Given the description of an element on the screen output the (x, y) to click on. 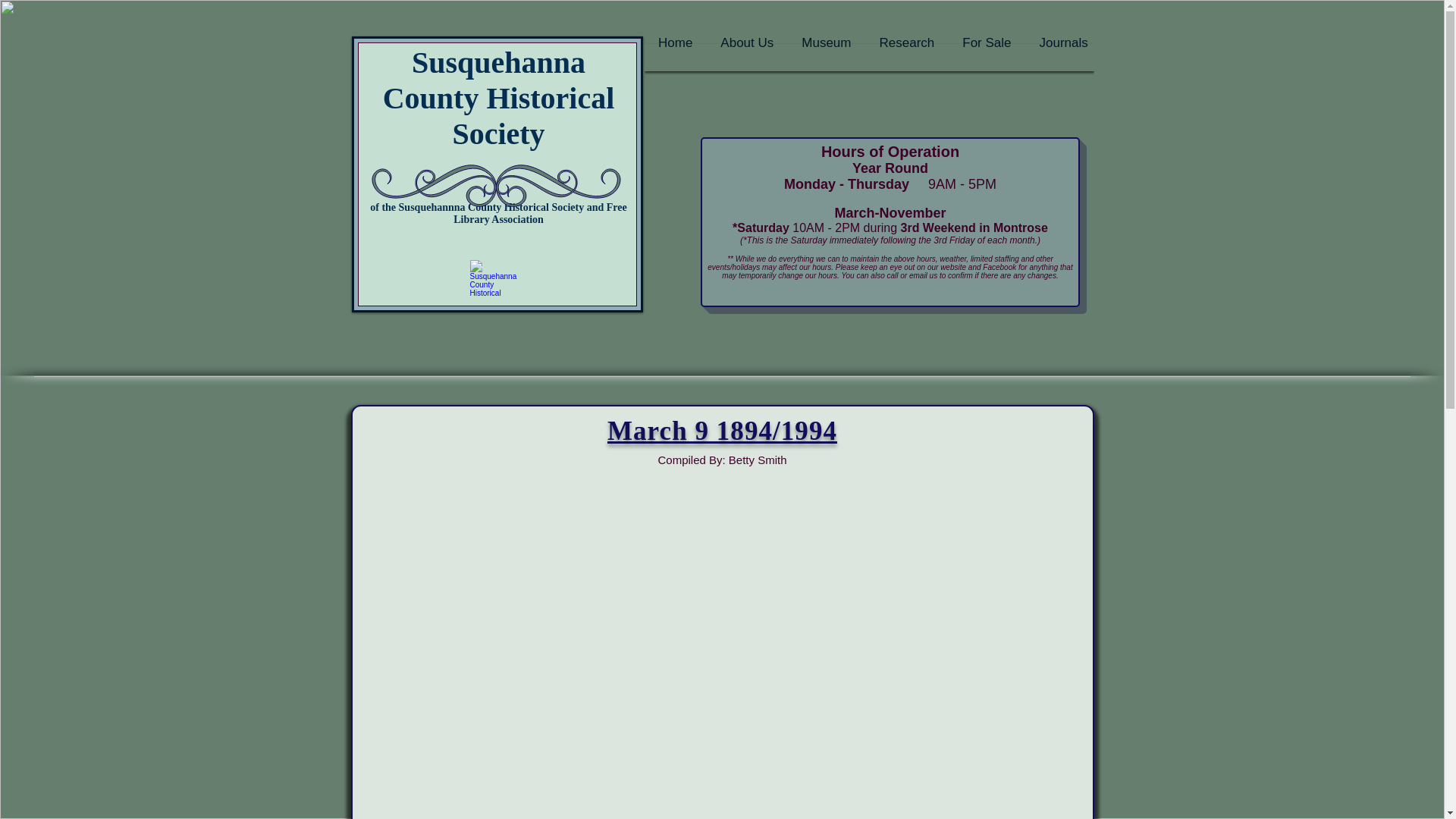
Home (675, 57)
Journals (1063, 57)
About Us (746, 57)
Susquehanna County Historical Society (498, 97)
Museum (825, 57)
For Sale (987, 57)
